Given the description of an element on the screen output the (x, y) to click on. 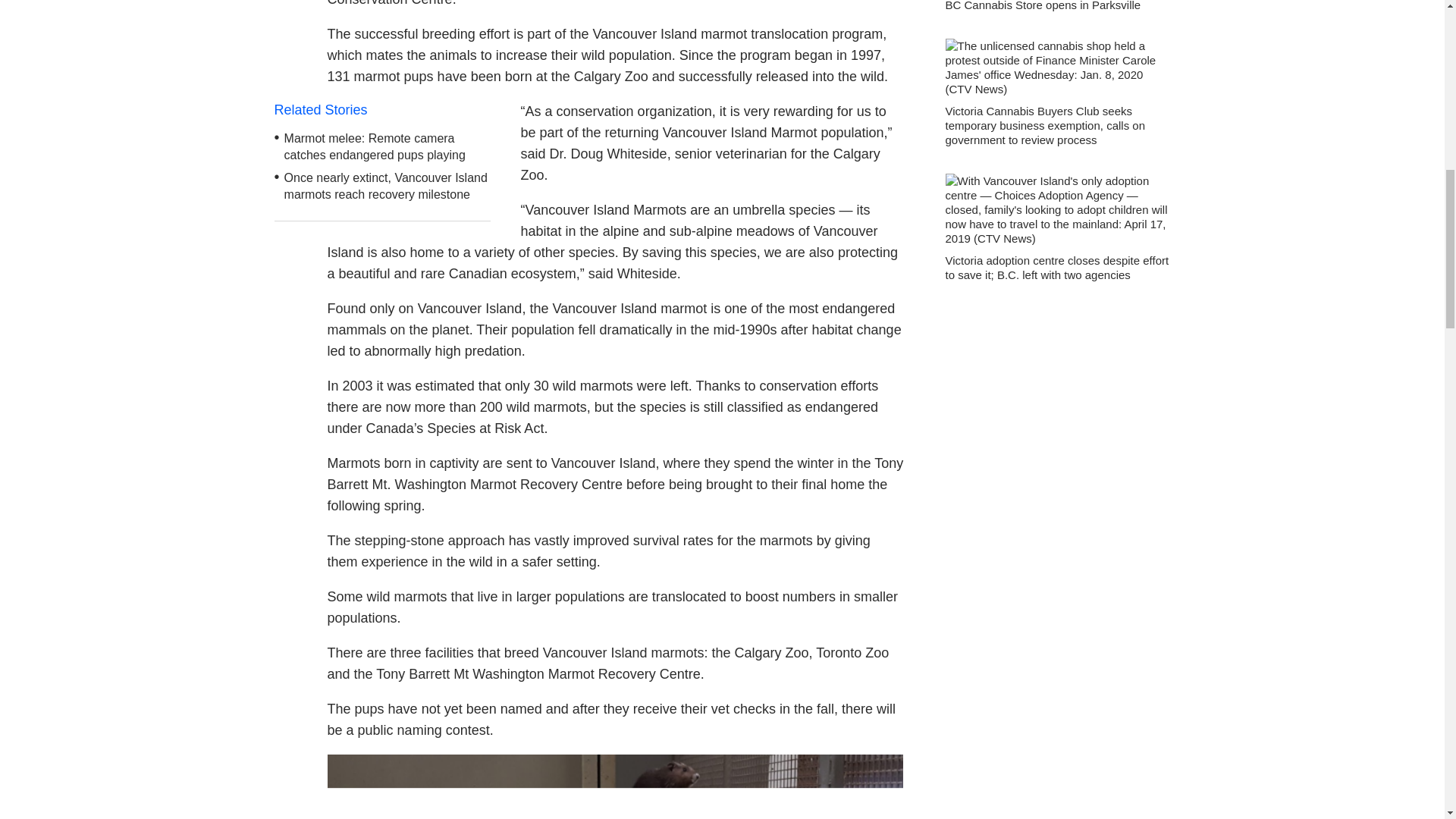
Marmot melee: Remote camera catches endangered pups playing (374, 146)
